Given the description of an element on the screen output the (x, y) to click on. 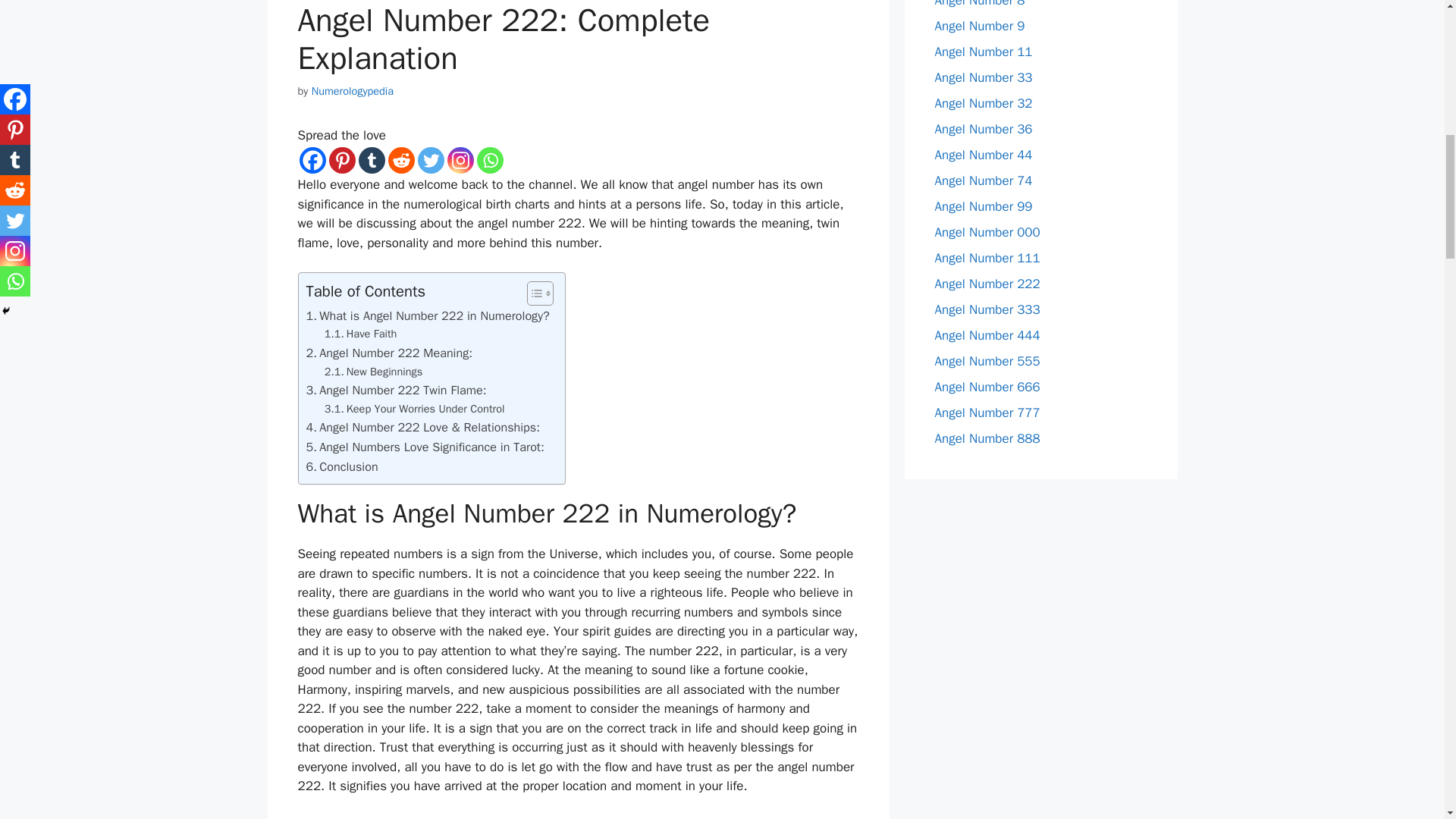
New Beginnings (373, 371)
Pinterest (342, 160)
Conclusion (341, 466)
New Beginnings (373, 371)
Keep Your Worries Under Control (414, 408)
Facebook (311, 160)
Numerologypedia (352, 90)
Have Faith (360, 334)
What is Angel Number 222 in Numerology? (427, 315)
Angel Number 222 Twin Flame: (395, 390)
